Given the description of an element on the screen output the (x, y) to click on. 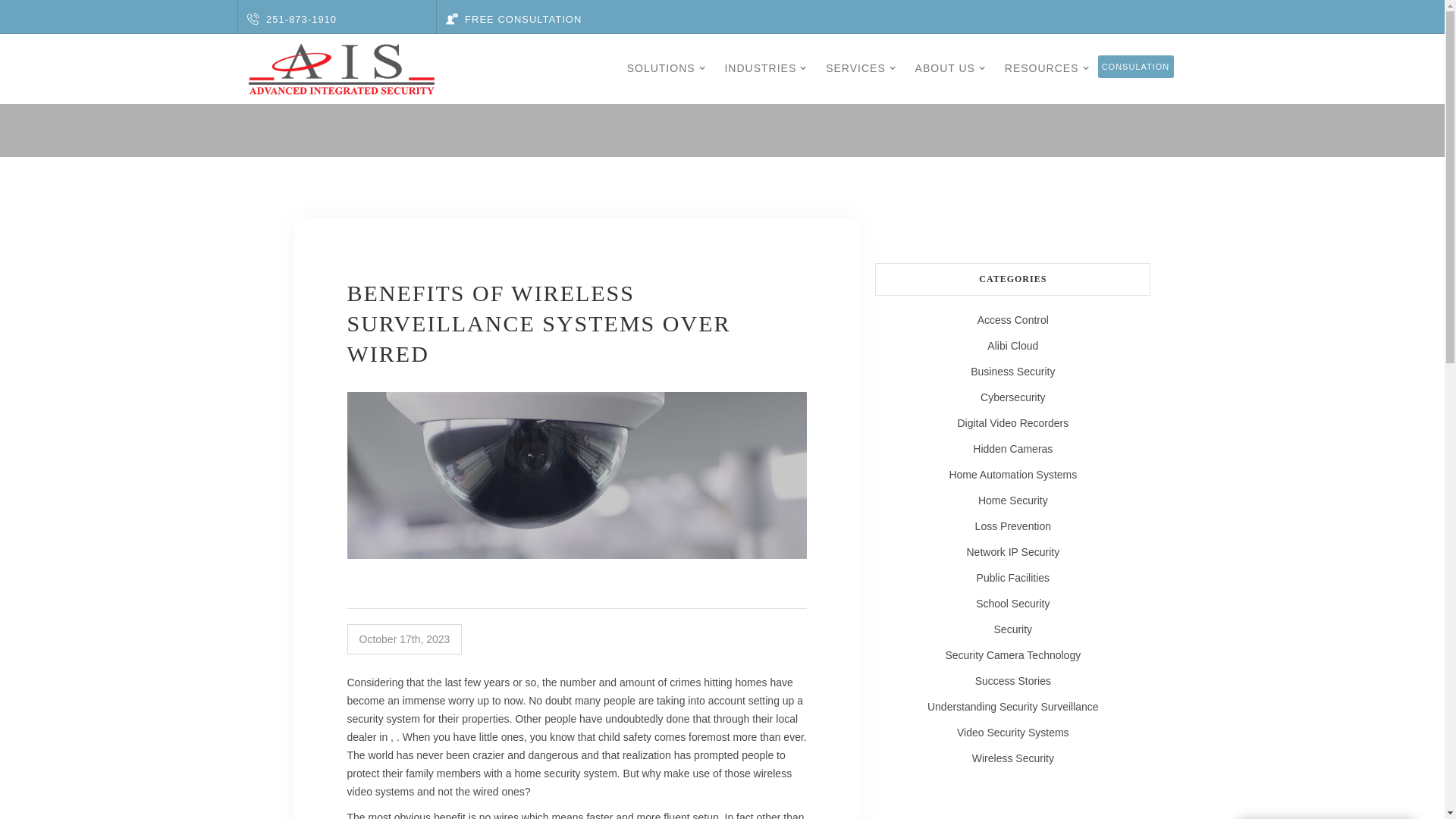
View all posts filed under Public Facilities (1012, 577)
View all posts filed under Business Security (1012, 371)
View all posts filed under Network IP Security (1012, 551)
View all posts filed under Security (1012, 628)
View all posts filed under Security Camera Technology (1012, 655)
Click to Call! (292, 19)
View all posts filed under Loss Prevention (1012, 525)
251-873-1910 (292, 19)
Schedule a Free Consultation! (513, 19)
View all posts filed under Wireless Security (1012, 758)
View all posts filed under Home Automation Systems (1012, 475)
View all posts filed under Home Security (1012, 500)
View all posts filed under Access Control (1012, 320)
View all posts filed under School Security (1012, 603)
